Given the description of an element on the screen output the (x, y) to click on. 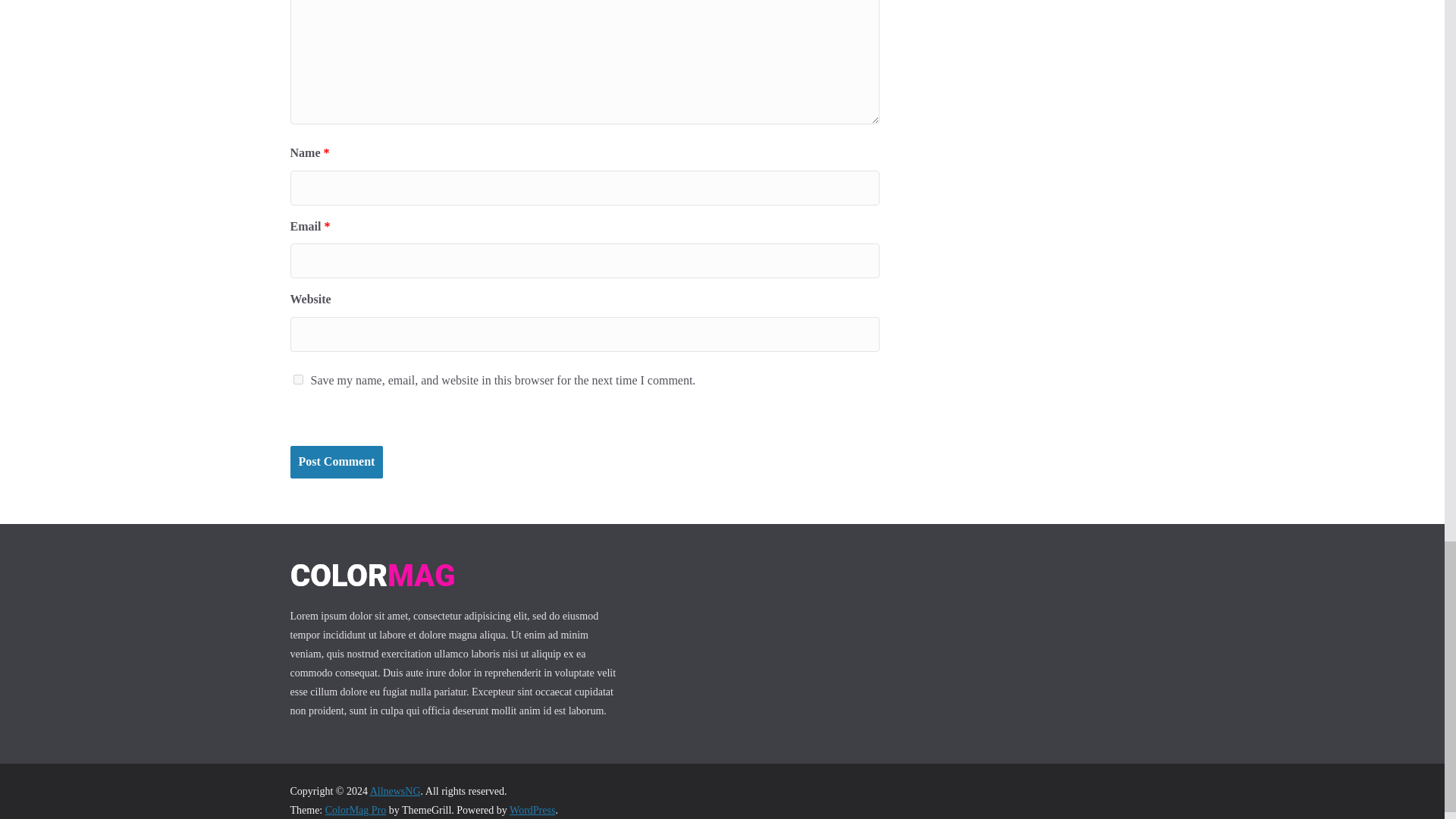
Post Comment (335, 461)
yes (297, 379)
WordPress (531, 809)
AllnewsNG (394, 790)
Post Comment (335, 461)
ColorMag Pro (355, 809)
